Given the description of an element on the screen output the (x, y) to click on. 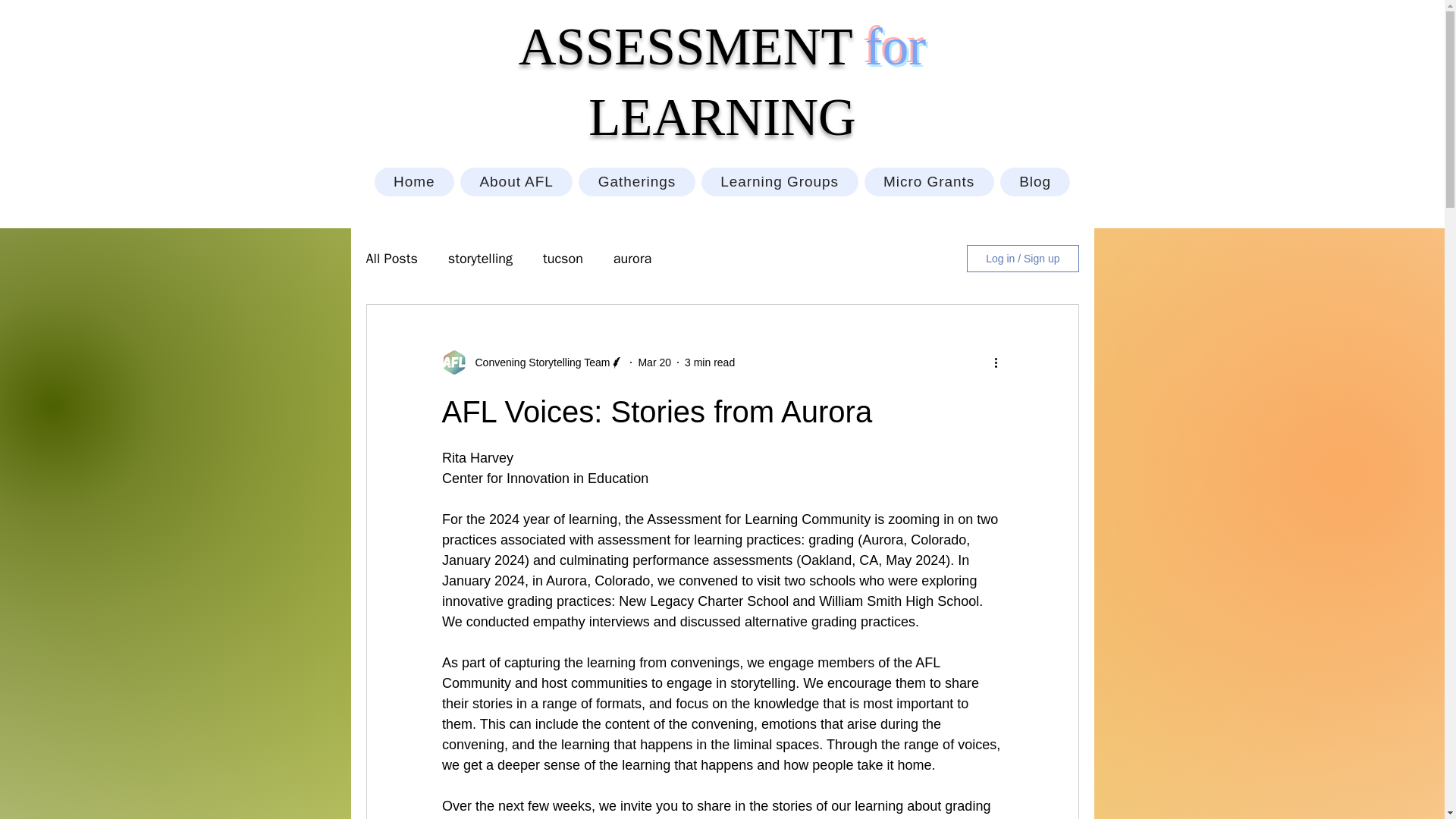
Home (414, 181)
ASSESSMENT for LEARNING (722, 82)
Micro Grants (929, 181)
All Posts (390, 258)
Blog (1035, 181)
About AFL (516, 181)
Convening Storytelling Team (537, 362)
aurora (631, 258)
Learning Groups (780, 181)
Mar 20 (654, 362)
storytelling (480, 258)
tucson (563, 258)
Gatherings (636, 181)
3 min read (709, 362)
